Given the description of an element on the screen output the (x, y) to click on. 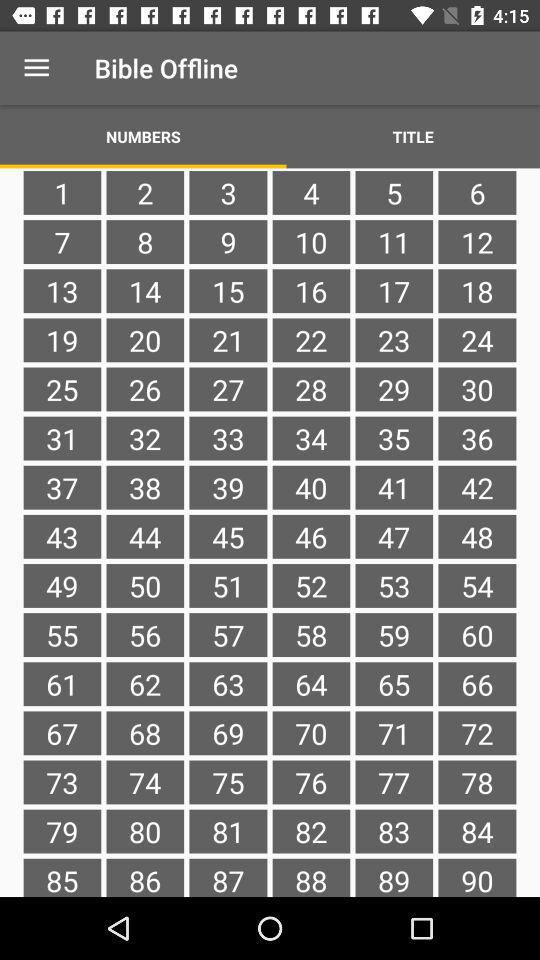
click the icon to the right of 56 (228, 684)
